Given the description of an element on the screen output the (x, y) to click on. 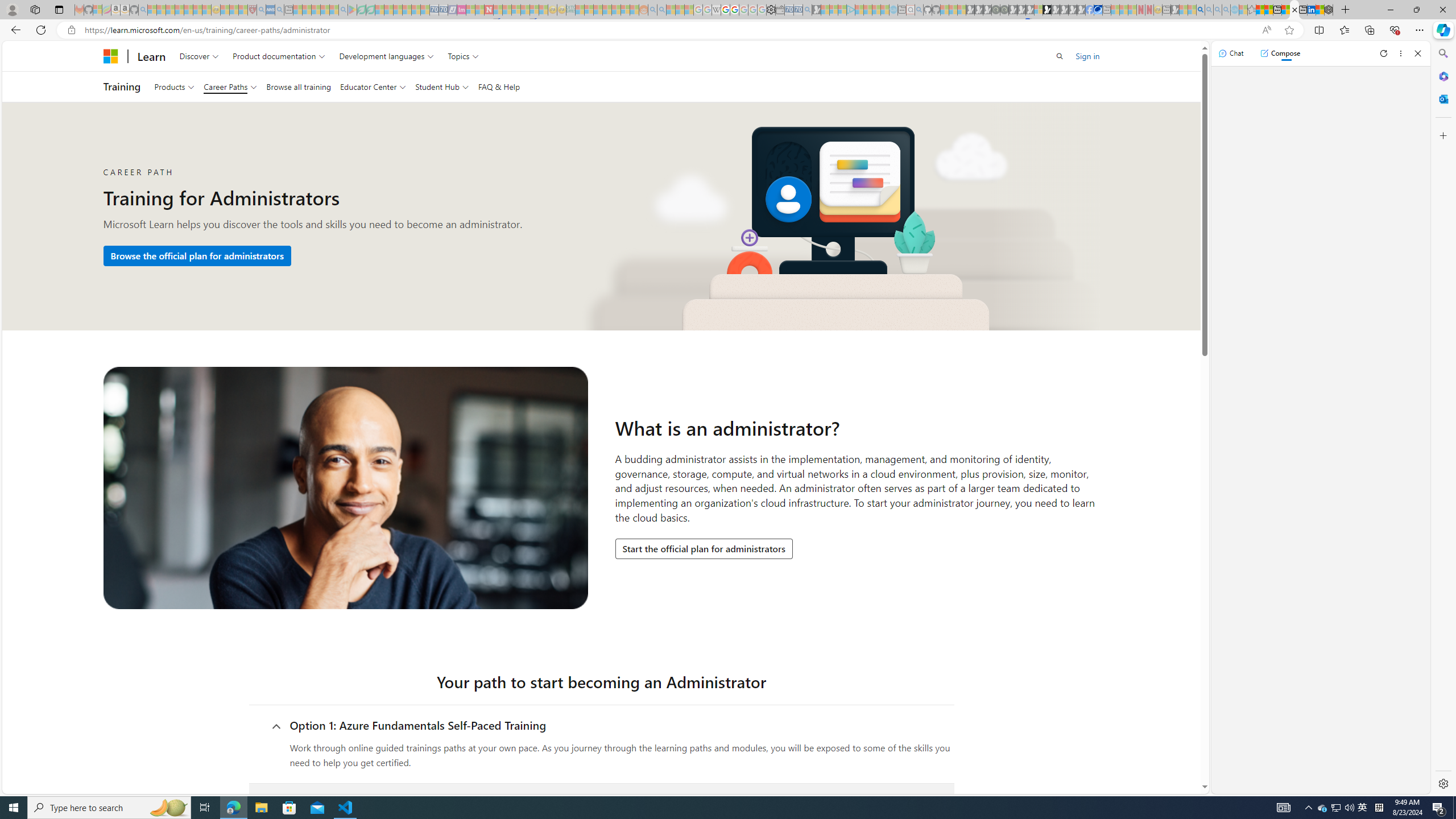
Open search (1059, 55)
Local - MSN - Sleeping (242, 9)
Target page - Wikipedia - Sleeping (716, 9)
Cheap Hotels - Save70.com - Sleeping (442, 9)
utah sues federal government - Search - Sleeping (279, 9)
Educator Center (372, 86)
Favorites - Sleeping (1251, 9)
Educator Center (372, 86)
